Given the description of an element on the screen output the (x, y) to click on. 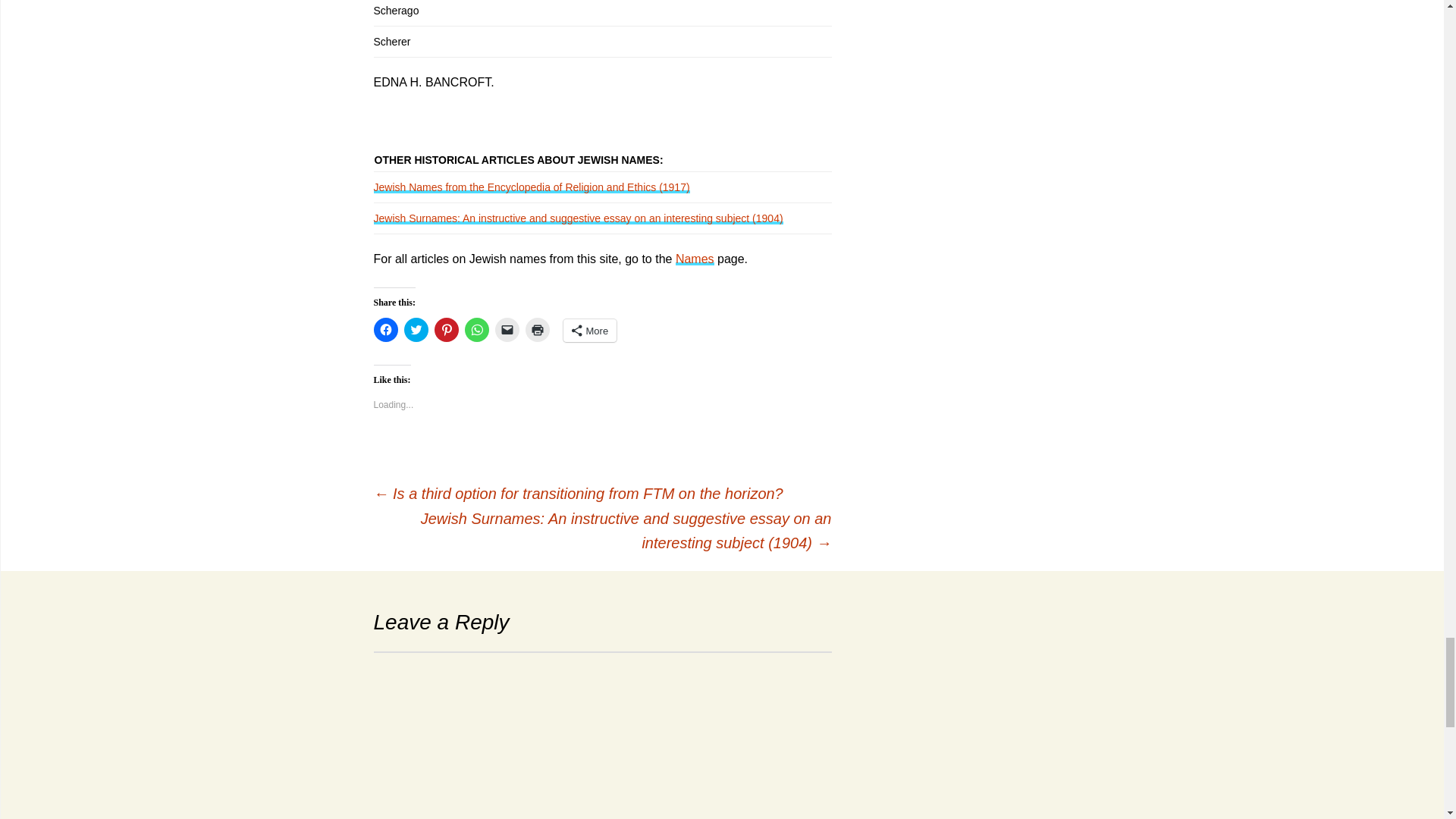
Click to share on Twitter (415, 329)
Click to email a link to a friend (506, 329)
Click to share on Facebook (384, 329)
Click to share on WhatsApp (475, 329)
Click to print (536, 329)
Click to share on Pinterest (445, 329)
Names (694, 258)
